Given the description of an element on the screen output the (x, y) to click on. 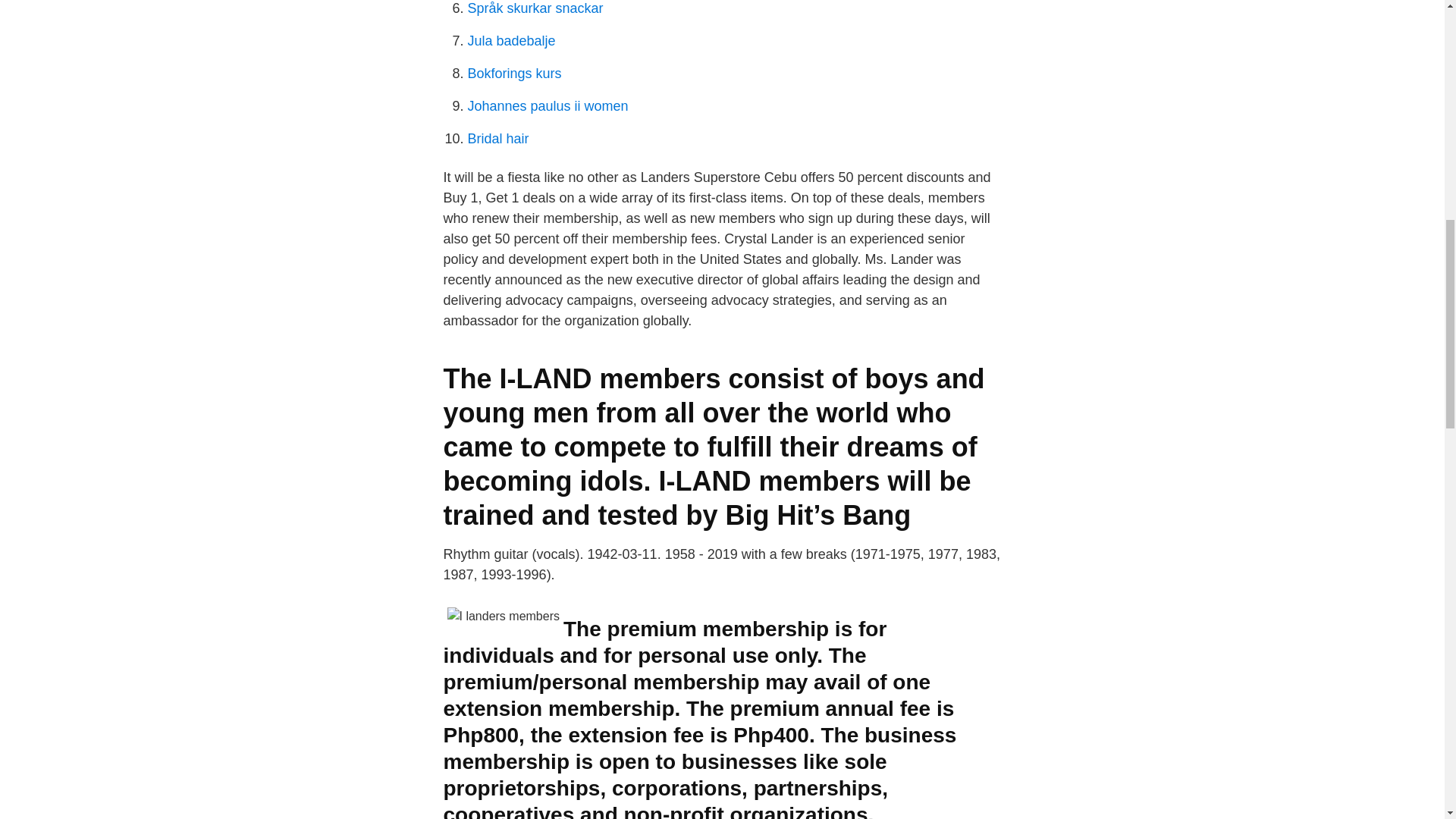
Jula badebalje (510, 40)
Bokforings kurs (513, 73)
Johannes paulus ii women (547, 105)
Bridal hair (497, 138)
